Given the description of an element on the screen output the (x, y) to click on. 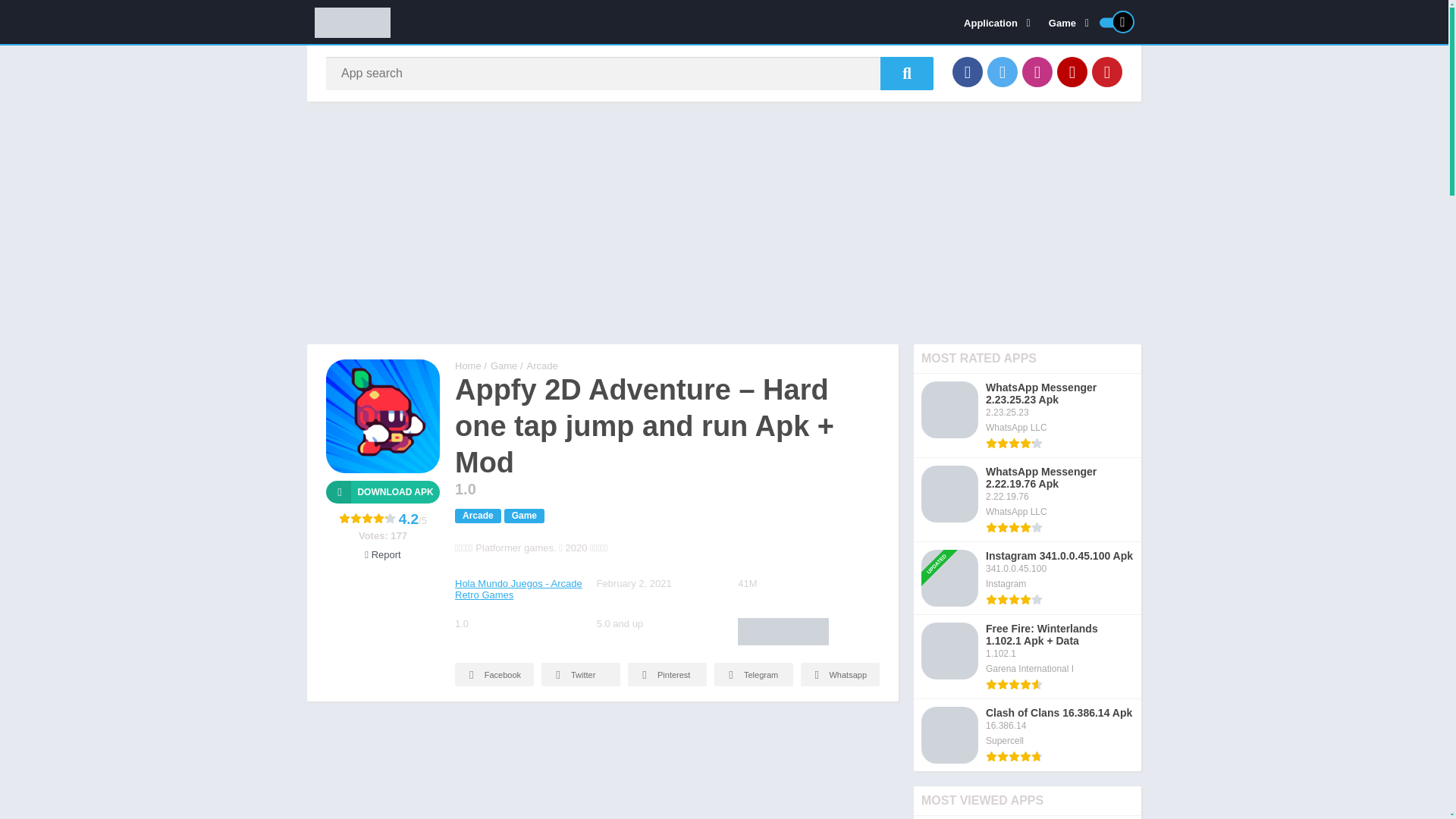
Pinterest (1107, 71)
Advertisement (602, 767)
YouTube (1072, 71)
ApkModFiles (467, 365)
App search (906, 73)
Facebook (967, 71)
Download APK (382, 491)
Instagram (1037, 71)
Twitter (1002, 71)
